Given the description of an element on the screen output the (x, y) to click on. 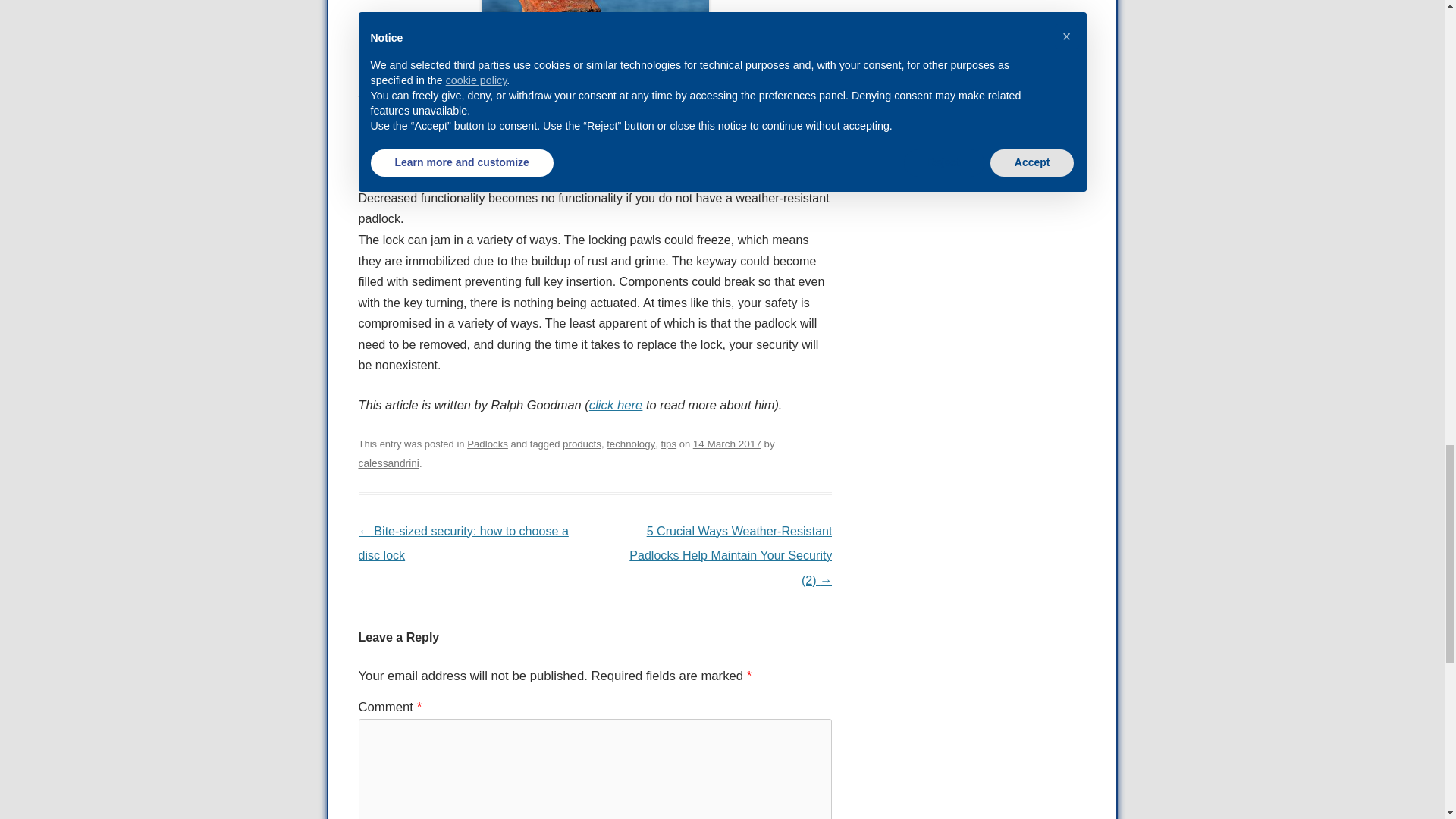
14 March 2017 (727, 443)
14:49 (727, 443)
View all posts by calessandrini (388, 463)
click here (616, 405)
technology (631, 443)
Padlocks (487, 443)
products (581, 443)
calessandrini (388, 463)
tips (669, 443)
